Given the description of an element on the screen output the (x, y) to click on. 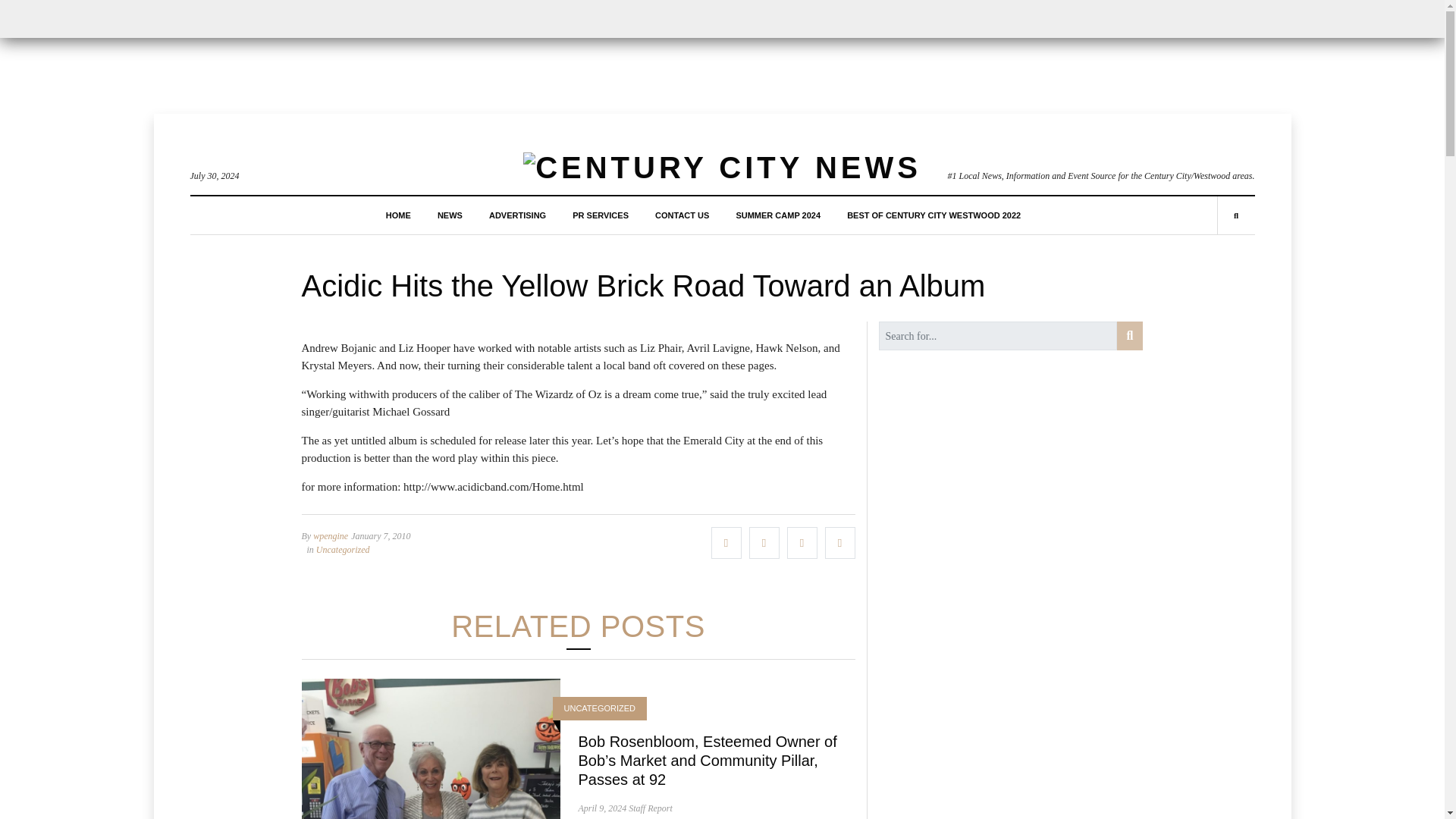
SUMMER CAMP 2024 (778, 215)
CONTACT US (682, 215)
PR SERVICES (600, 215)
BEST OF CENTURY CITY WESTWOOD 2022 (933, 215)
Posts by Staff Report (650, 808)
wpengine (330, 535)
Posts by wpengine (330, 535)
ADVERTISING (517, 215)
